Given the description of an element on the screen output the (x, y) to click on. 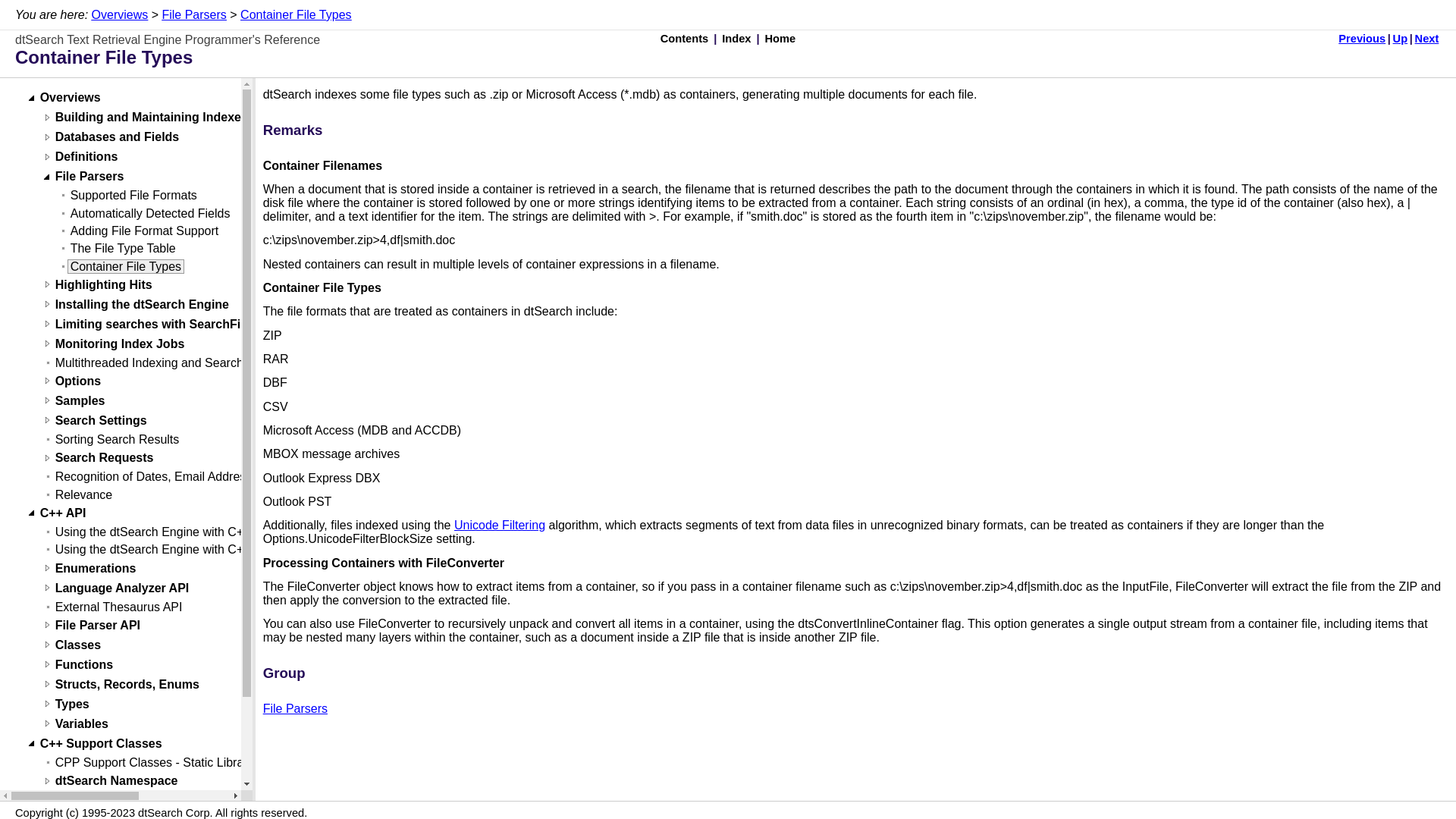
Collapse (30, 96)
Next (1426, 38)
Up (1400, 38)
Index (736, 38)
Index (736, 38)
Building and Maintaining Indexes (151, 117)
Contents (684, 38)
Contents (685, 38)
Overviews (70, 97)
Expand (46, 115)
Container File Types (295, 14)
Previous (1361, 38)
File Parsers (193, 14)
Home (779, 38)
Overviews (119, 14)
